Given the description of an element on the screen output the (x, y) to click on. 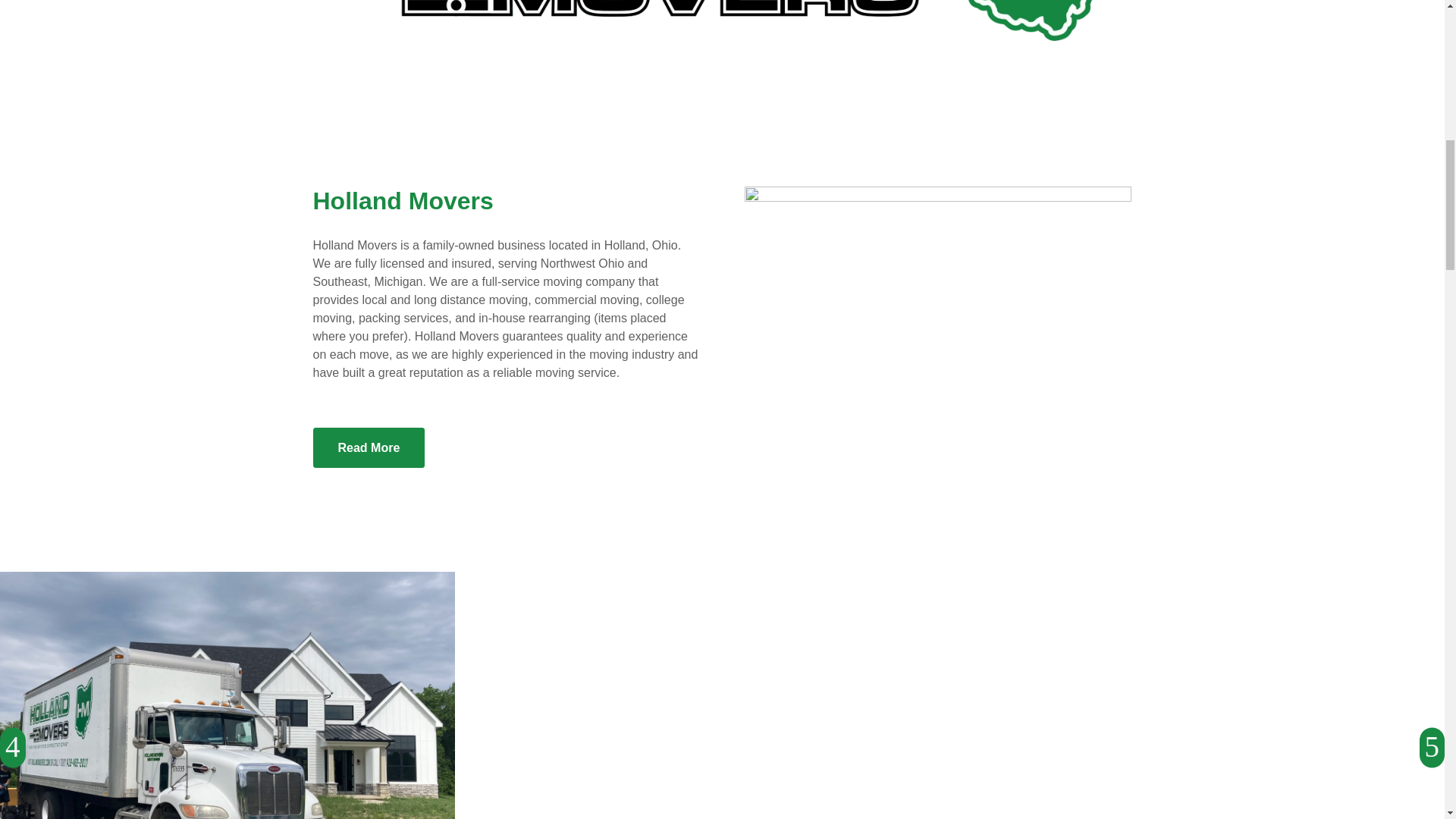
mopbing-imgss (937, 300)
Read More (369, 447)
